Given the description of an element on the screen output the (x, y) to click on. 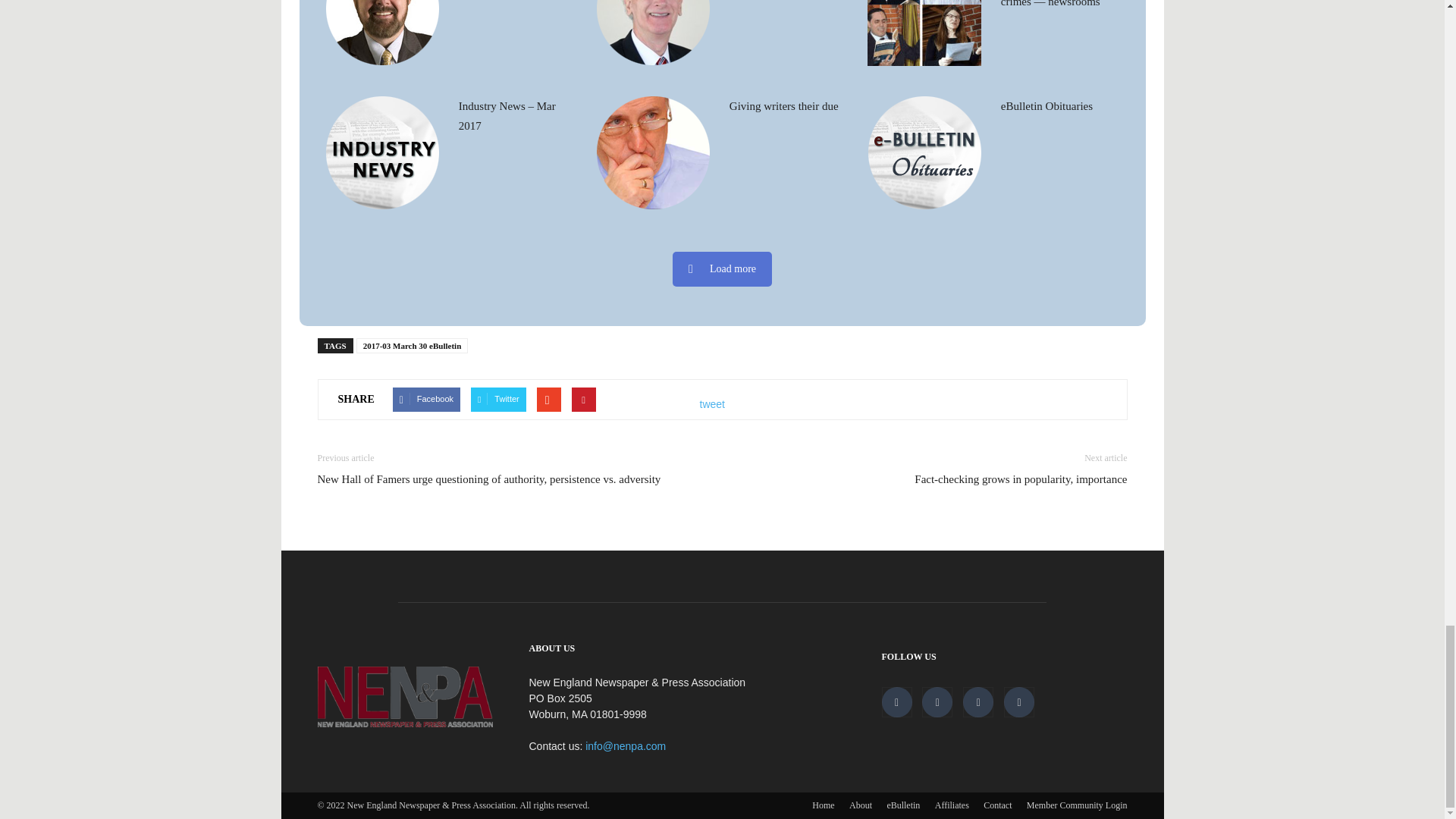
How to create a website (381, 33)
